Given the description of an element on the screen output the (x, y) to click on. 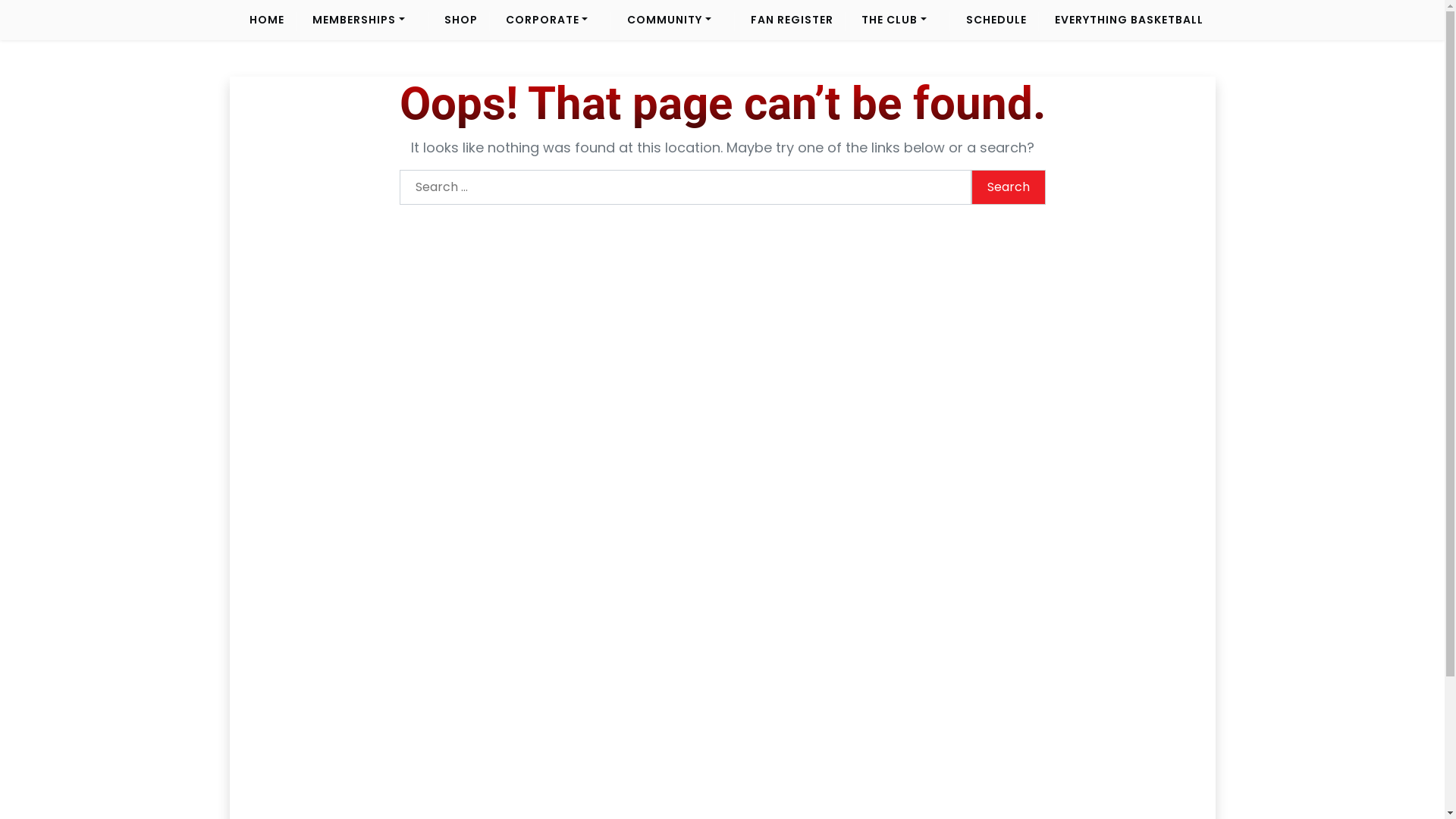
MEMBERSHIPS Element type: text (358, 20)
SCHEDULE Element type: text (995, 20)
COMMUNITY Element type: text (669, 20)
HOME Element type: text (266, 20)
THE CLUB Element type: text (893, 20)
EVERYTHING BASKETBALL Element type: text (1127, 20)
SHOP Element type: text (460, 20)
Search Element type: text (1007, 186)
CORPORATE Element type: text (546, 20)
FAN REGISTER Element type: text (791, 20)
